Given the description of an element on the screen output the (x, y) to click on. 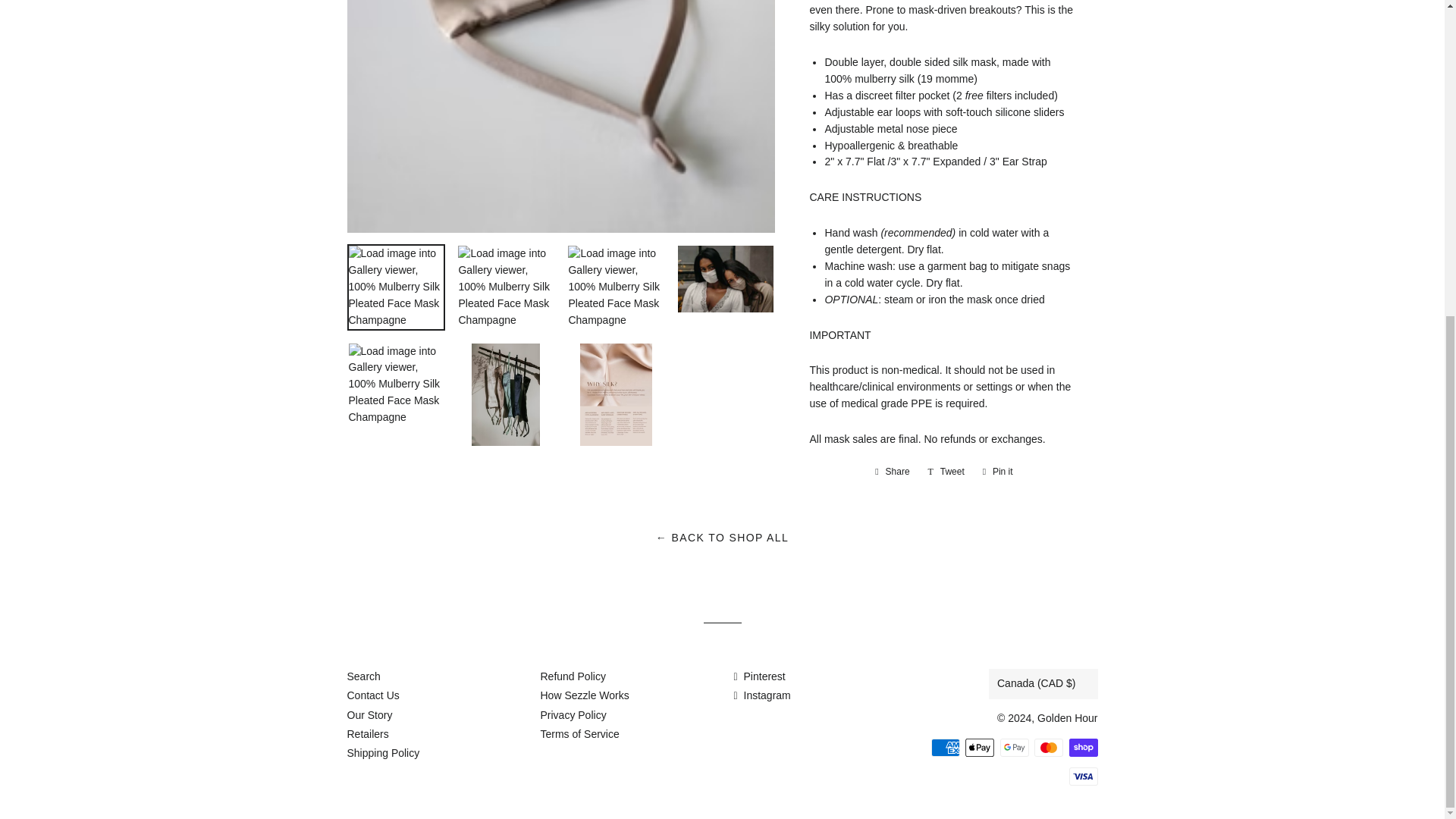
Mastercard (1047, 747)
Share on Facebook (892, 471)
Google Pay (1012, 747)
Shop Pay (1082, 747)
Apple Pay (979, 747)
Golden Hour on Instagram (761, 695)
American Express (945, 747)
Visa (1082, 776)
Golden Hour on Pinterest (759, 676)
Pin on Pinterest (997, 471)
